Given the description of an element on the screen output the (x, y) to click on. 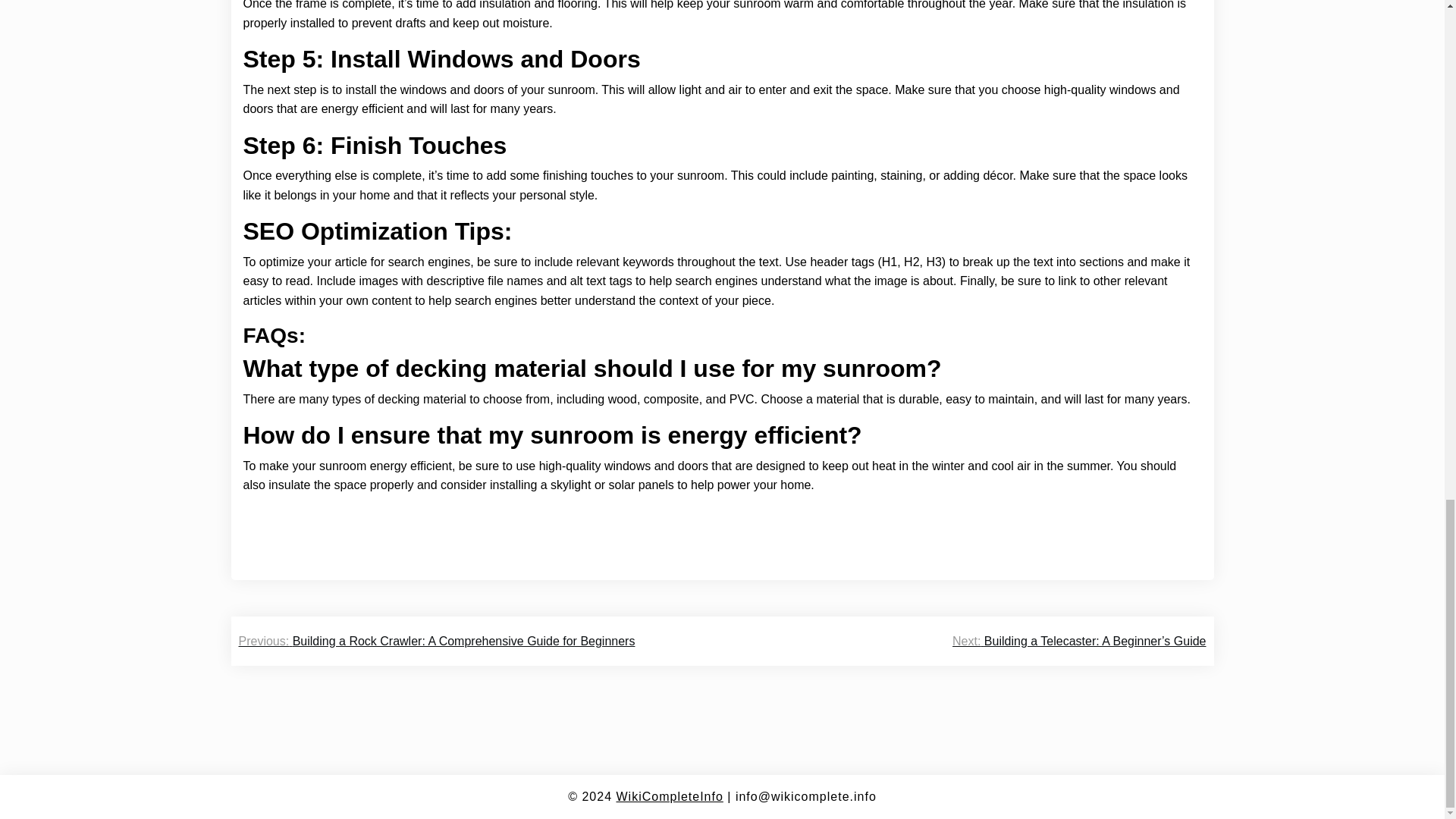
WikiCompleteInfo (668, 796)
